Given the description of an element on the screen output the (x, y) to click on. 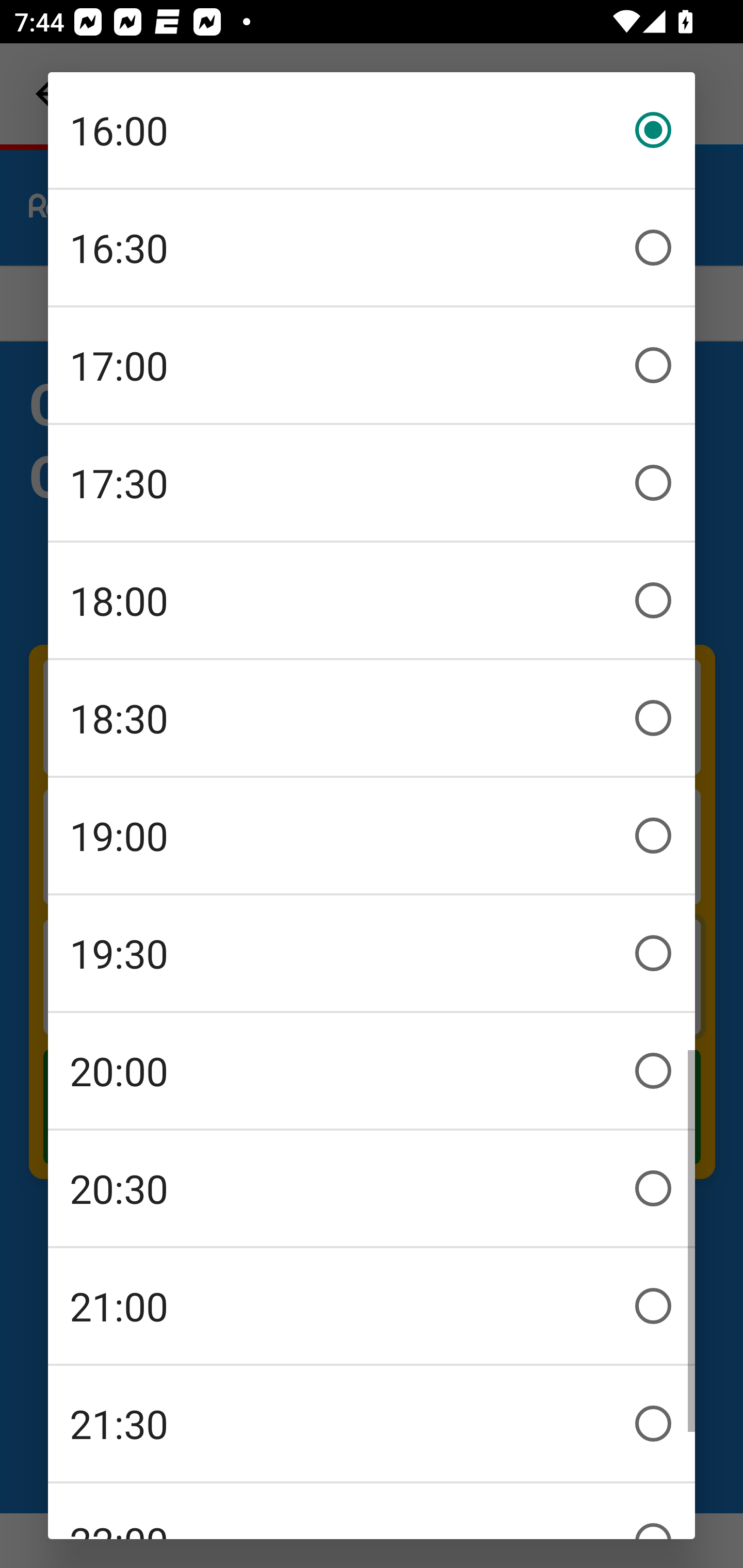
16:00 (371, 130)
16:30 (371, 247)
17:00 (371, 365)
17:30 (371, 482)
18:00 (371, 600)
18:30 (371, 718)
19:00 (371, 835)
19:30 (371, 953)
20:00 (371, 1070)
20:30 (371, 1188)
21:00 (371, 1306)
21:30 (371, 1423)
